Given the description of an element on the screen output the (x, y) to click on. 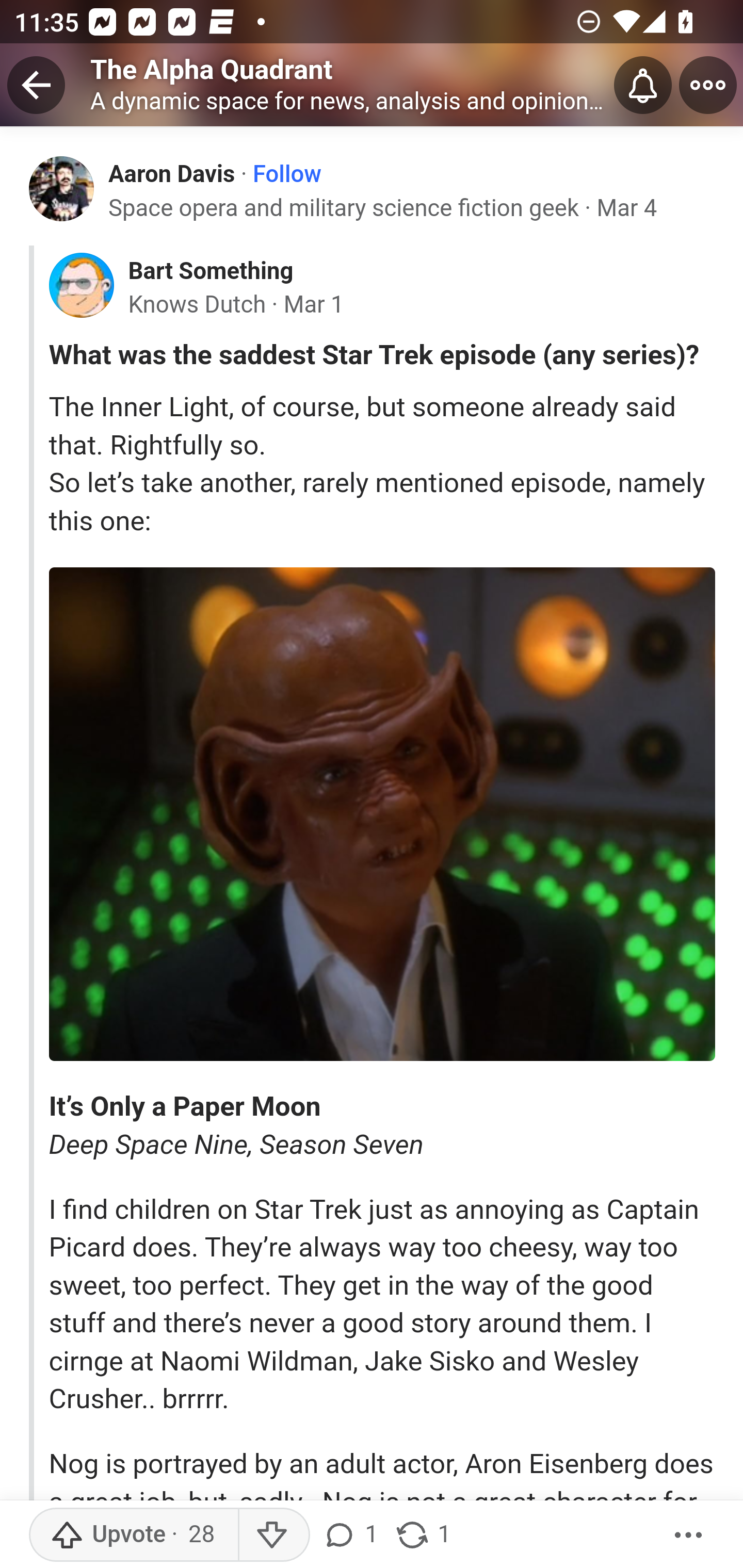
The Alpha Quadrant (211, 68)
Profile photo for Aaron Davis (61, 188)
Aaron Davis (172, 173)
Follow (287, 174)
Profile photo for Bart Something (80, 285)
Bart Something (210, 271)
main-qimg-0a9453f55125d56c38dfed03be596402 (381, 814)
Upvote (133, 1534)
Downvote (273, 1534)
1 comment (353, 1534)
1 share (421, 1534)
More (688, 1534)
